Given the description of an element on the screen output the (x, y) to click on. 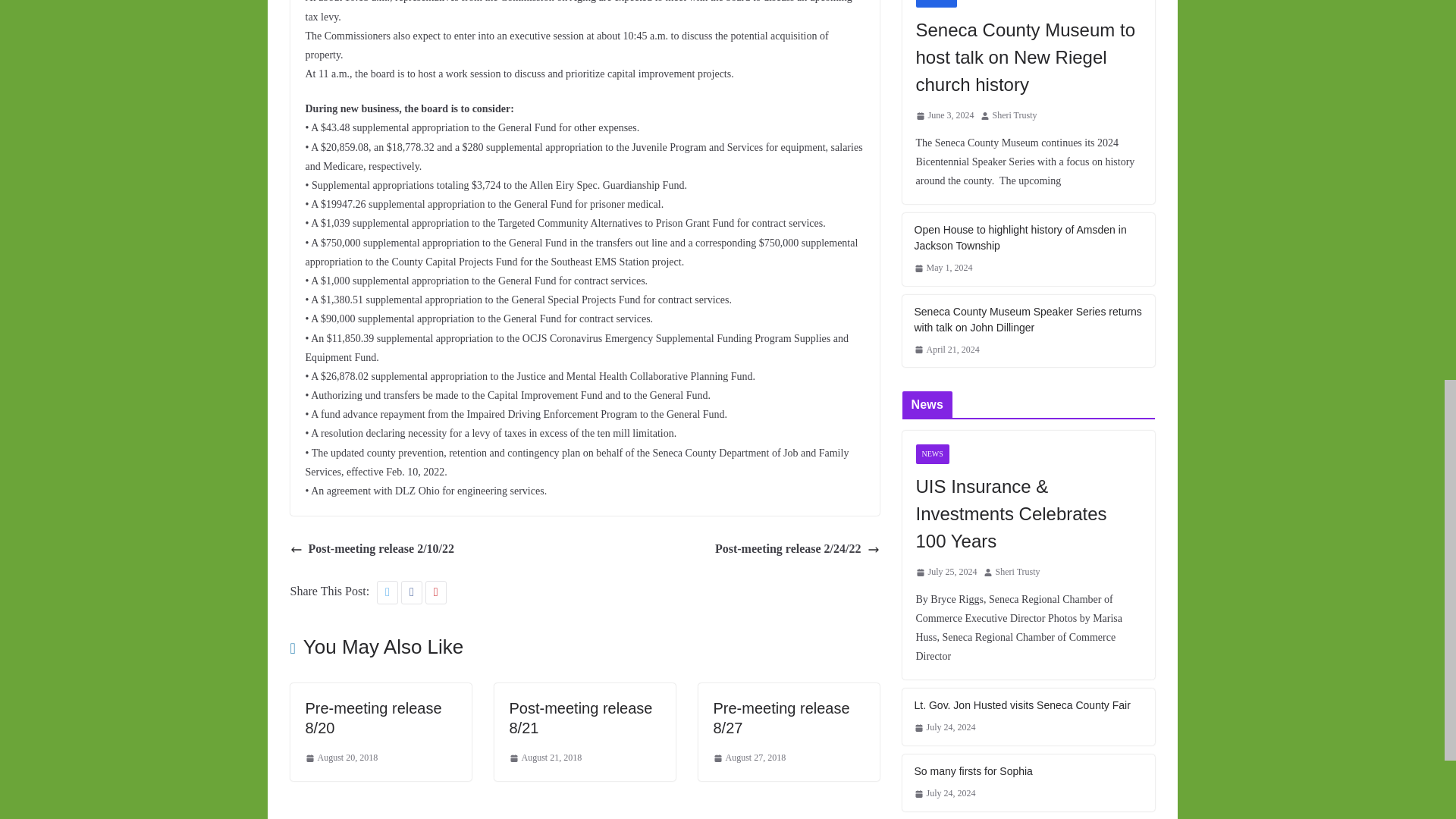
8:06 pm (340, 758)
8:10 pm (545, 758)
